Given the description of an element on the screen output the (x, y) to click on. 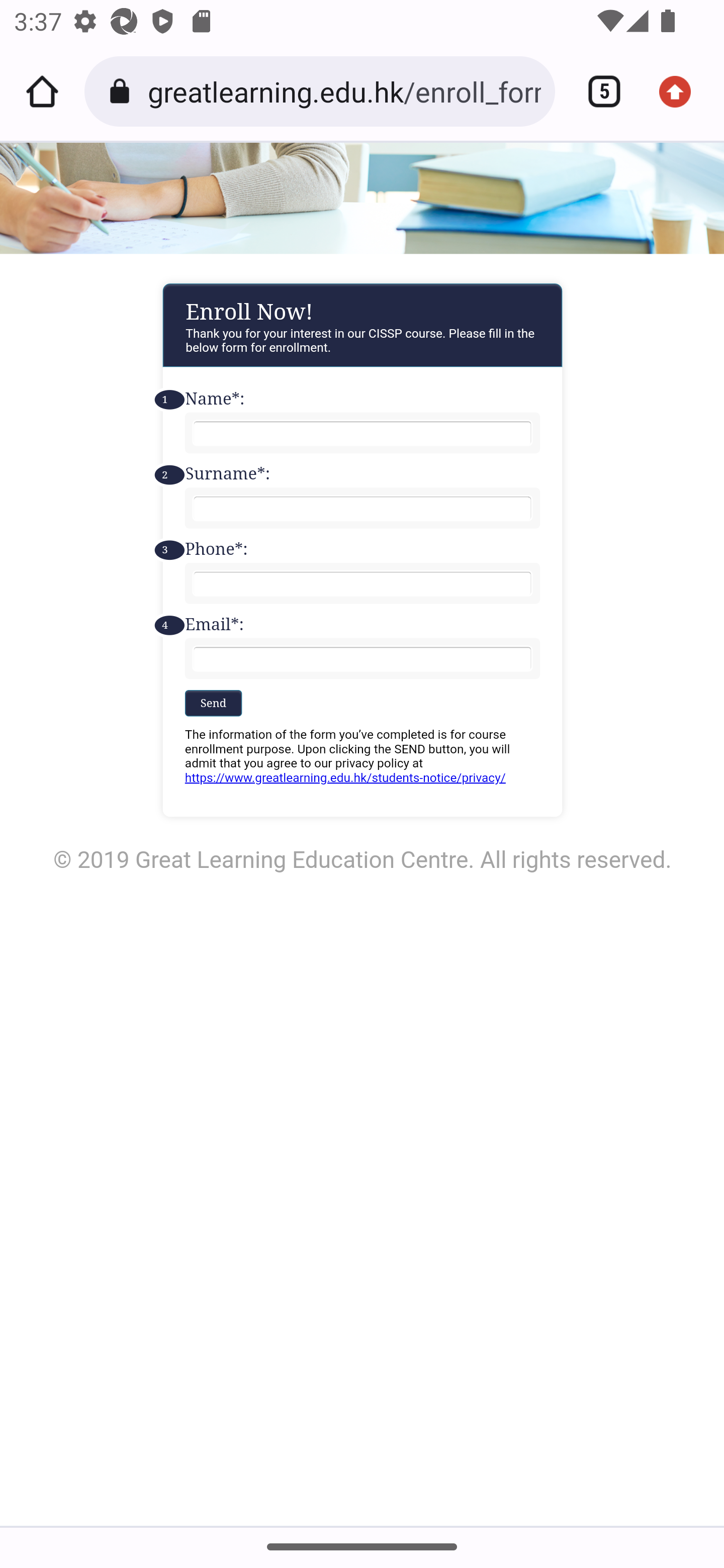
Home (42, 91)
Connection is secure (122, 91)
Switch or close tabs (597, 91)
Update available. More options (681, 91)
Send (213, 702)
